Given the description of an element on the screen output the (x, y) to click on. 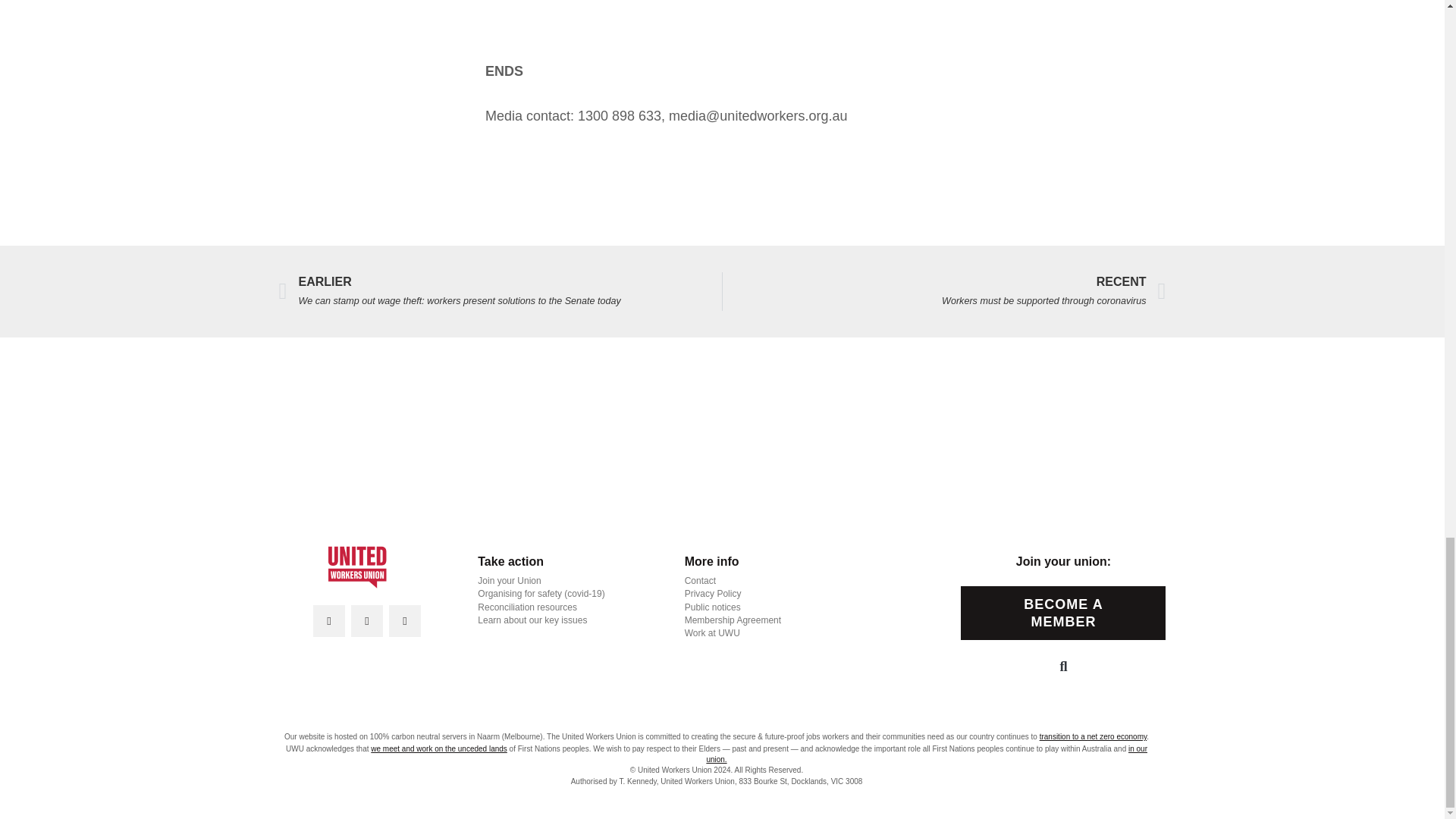
Page 2 (721, 72)
